Given the description of an element on the screen output the (x, y) to click on. 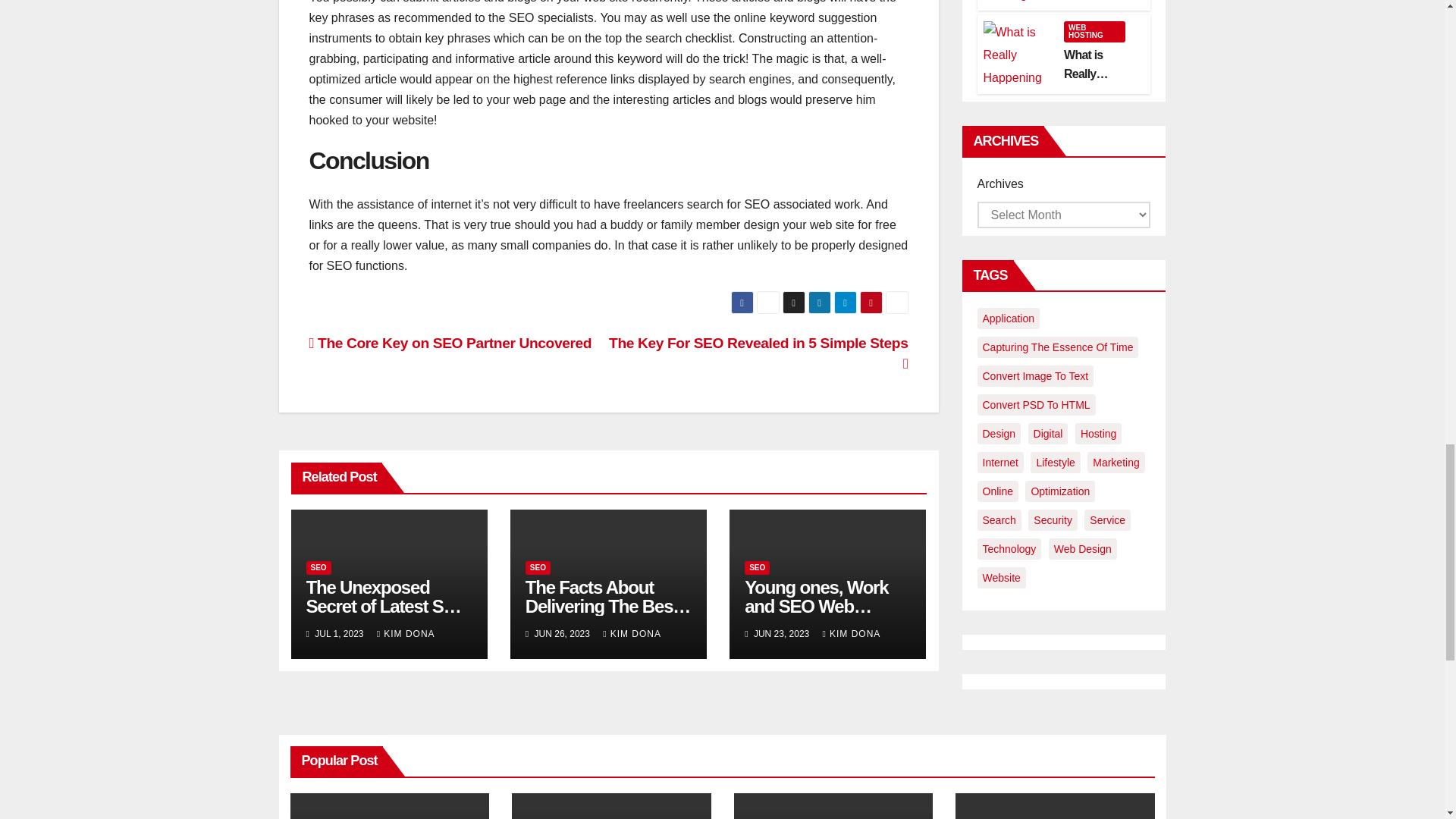
SEO (318, 567)
SEO (537, 567)
KIM DONA (406, 633)
Young ones, Work and SEO Web Design Templates (816, 606)
The Core Key on SEO Partner Uncovered (450, 342)
KIM DONA (631, 633)
Permalink to: Young ones, Work and SEO Web Design Templates (816, 606)
The Key For SEO Revealed in 5 Simple Steps (757, 352)
Permalink to: The Unexposed Secret of Latest SEO Web Design (386, 606)
